Given the description of an element on the screen output the (x, y) to click on. 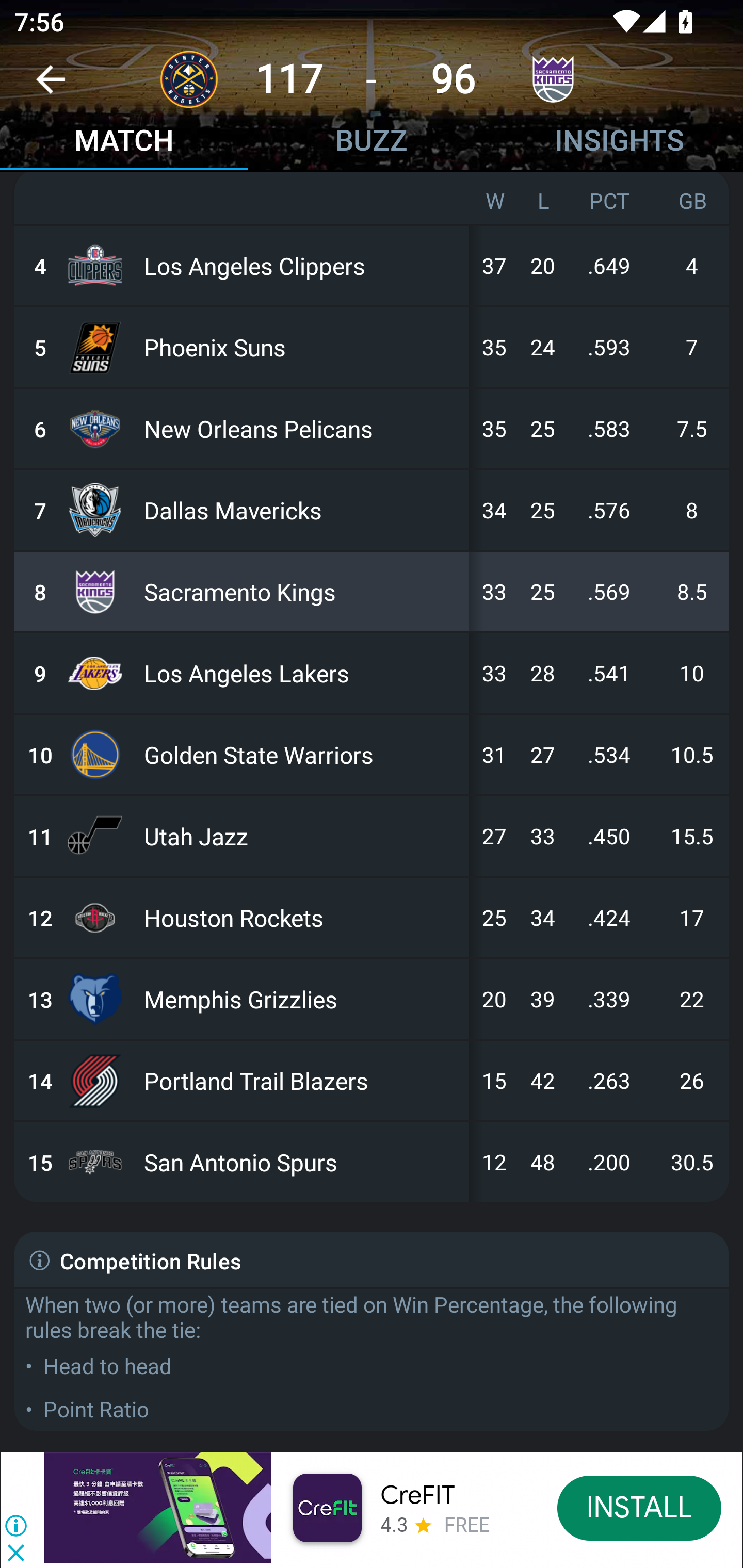
Navigate up (50, 86)
117 (288, 78)
96 (453, 78)
MATCH (123, 142)
BUZZ (371, 142)
INSIGHTS (619, 142)
3 Denver Nuggets 41 19 .683 1.5 (371, 196)
Denver Nuggets (302, 196)
4 Los Angeles Clippers 37 20 .649 4 (371, 265)
Los Angeles Clippers (302, 265)
5 Phoenix Suns 35 24 .593 7 (371, 347)
Phoenix Suns (302, 347)
6 New Orleans Pelicans 35 25 .583 7.5 (371, 428)
New Orleans Pelicans (302, 428)
7 Dallas Mavericks 34 25 .576 8 (371, 510)
Dallas Mavericks (302, 510)
8 Sacramento Kings 33 25 .569 8.5 (371, 591)
Sacramento Kings (302, 591)
9 Los Angeles Lakers 33 28 .541 10 (371, 673)
Los Angeles Lakers (302, 673)
10 Golden State Warriors 31 27 .534 10.5 (371, 754)
Golden State Warriors (302, 754)
11 Utah Jazz 27 33 .450 15.5 (371, 836)
Utah Jazz (302, 836)
12 Houston Rockets 25 34 .424 17 (371, 918)
Houston Rockets (302, 918)
13 Memphis Grizzlies 20 39 .339 22 (371, 998)
Memphis Grizzlies (302, 998)
14 Portland Trail Blazers 15 42 .263 26 (371, 1080)
Portland Trail Blazers (302, 1080)
15 San Antonio Spurs 12 48 .200 30.5 (371, 1161)
San Antonio Spurs (302, 1161)
INSTALL (639, 1507)
CreFIT (417, 1494)
4.3 (393, 1523)
FREE (466, 1525)
